Given the description of an element on the screen output the (x, y) to click on. 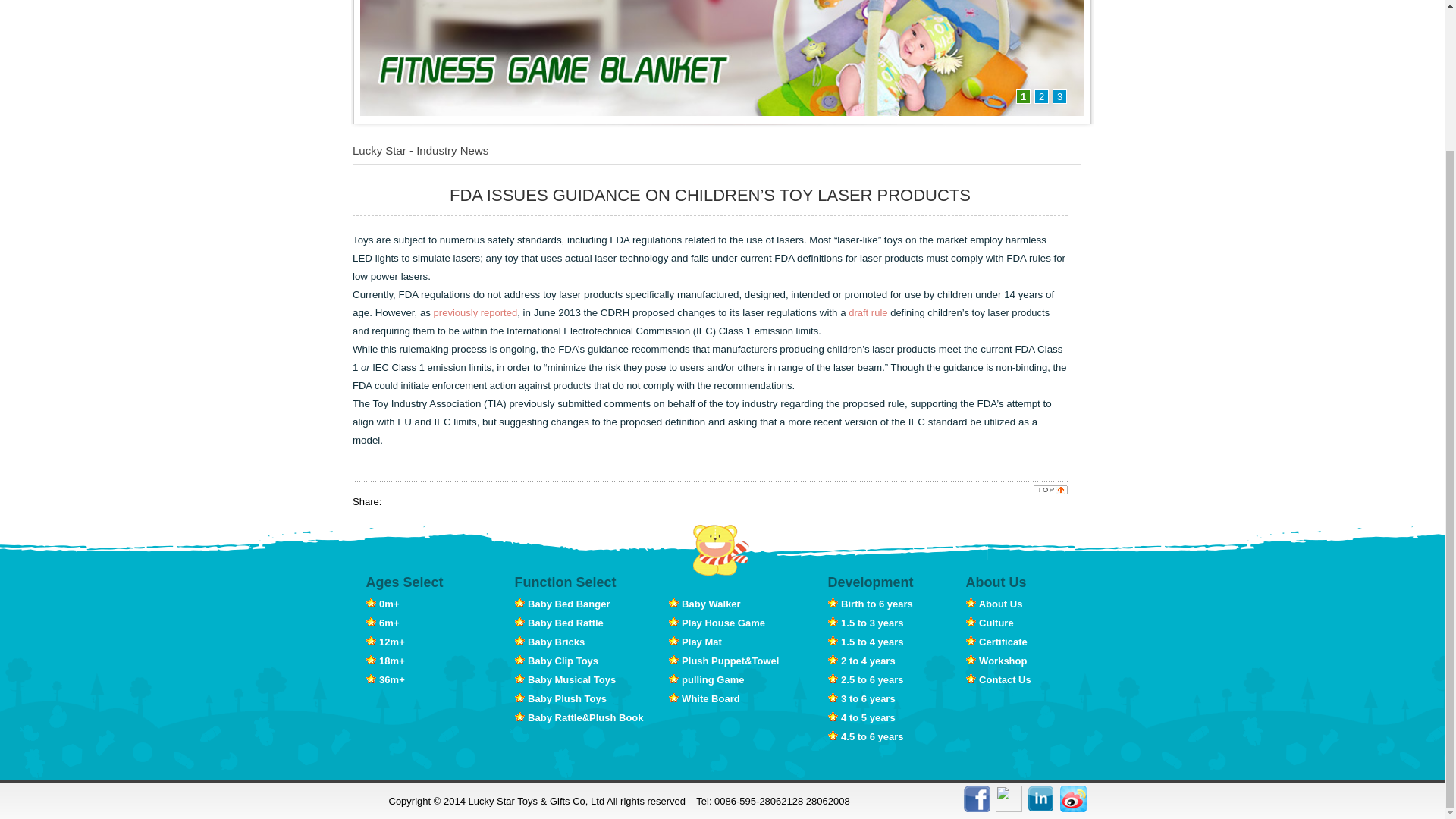
3 (1059, 96)
1 (1023, 96)
2 (1040, 96)
draft rule (867, 312)
previously reported (475, 312)
